Given the description of an element on the screen output the (x, y) to click on. 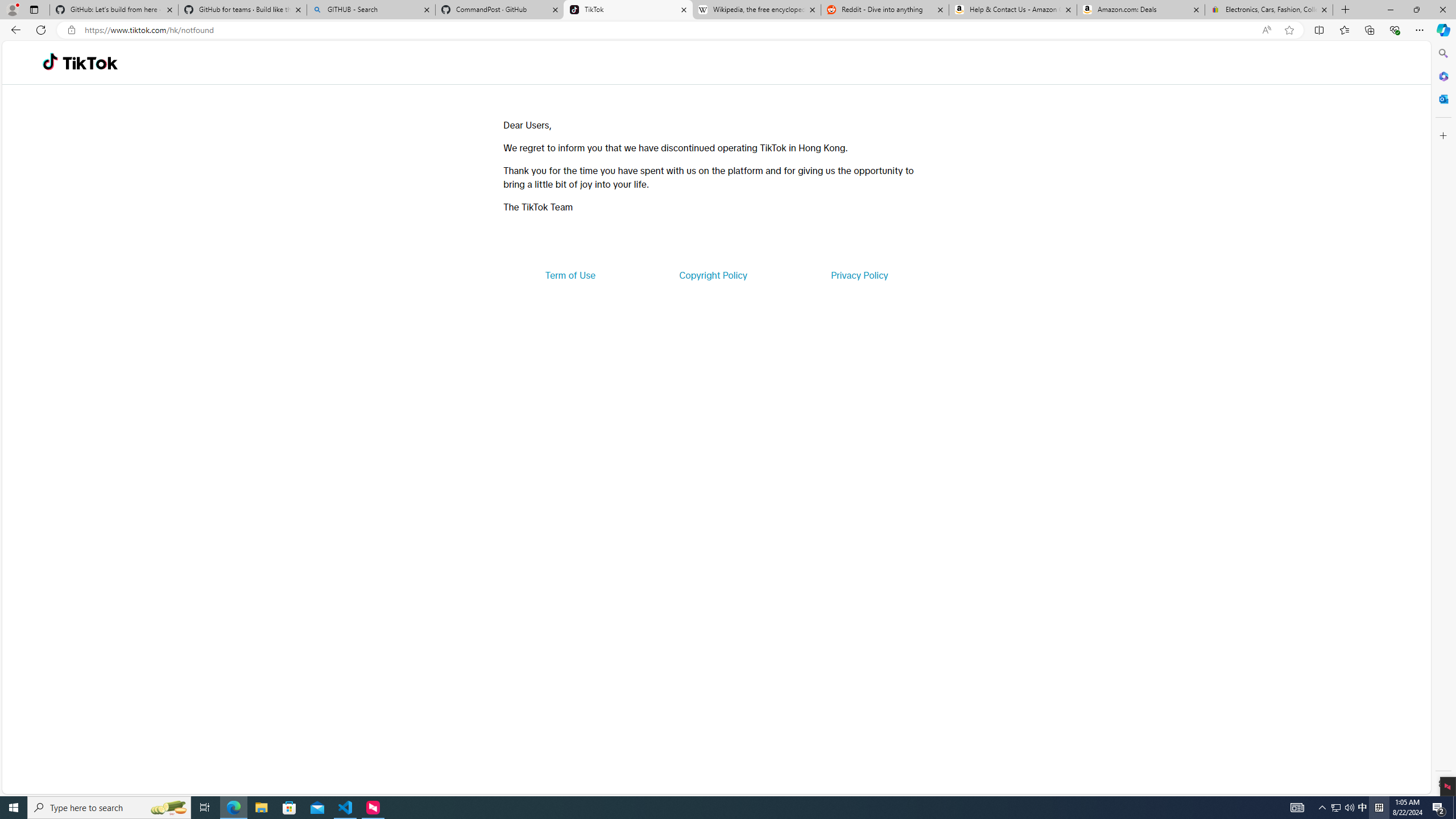
Wikipedia, the free encyclopedia (756, 9)
GITHUB - Search (370, 9)
